Given the description of an element on the screen output the (x, y) to click on. 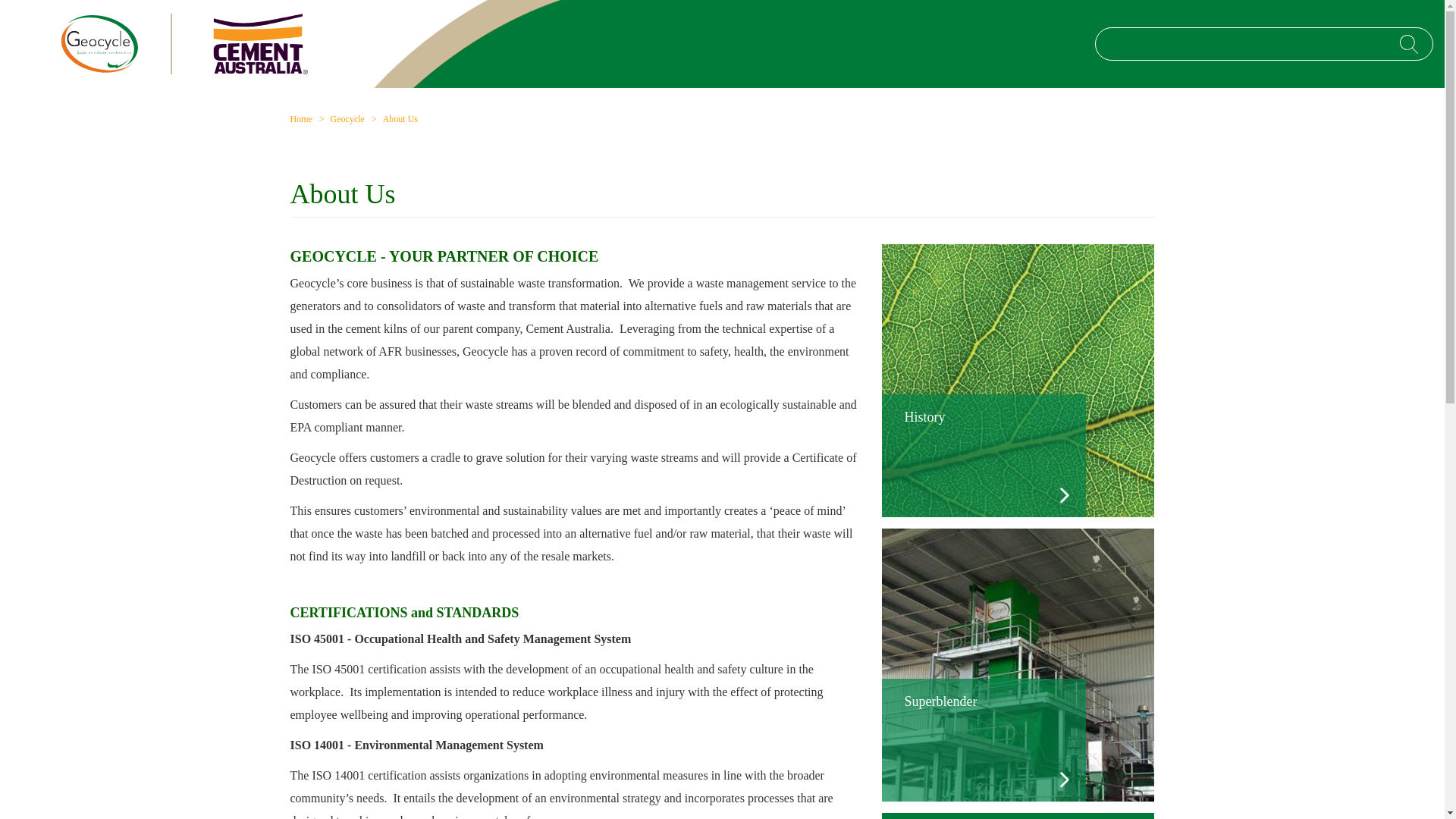
Home (261, 43)
Geocycle (347, 118)
Geocycle (104, 43)
History (983, 454)
Apply (1408, 44)
Superblender (983, 739)
About Us (399, 118)
Home (300, 118)
